Given the description of an element on the screen output the (x, y) to click on. 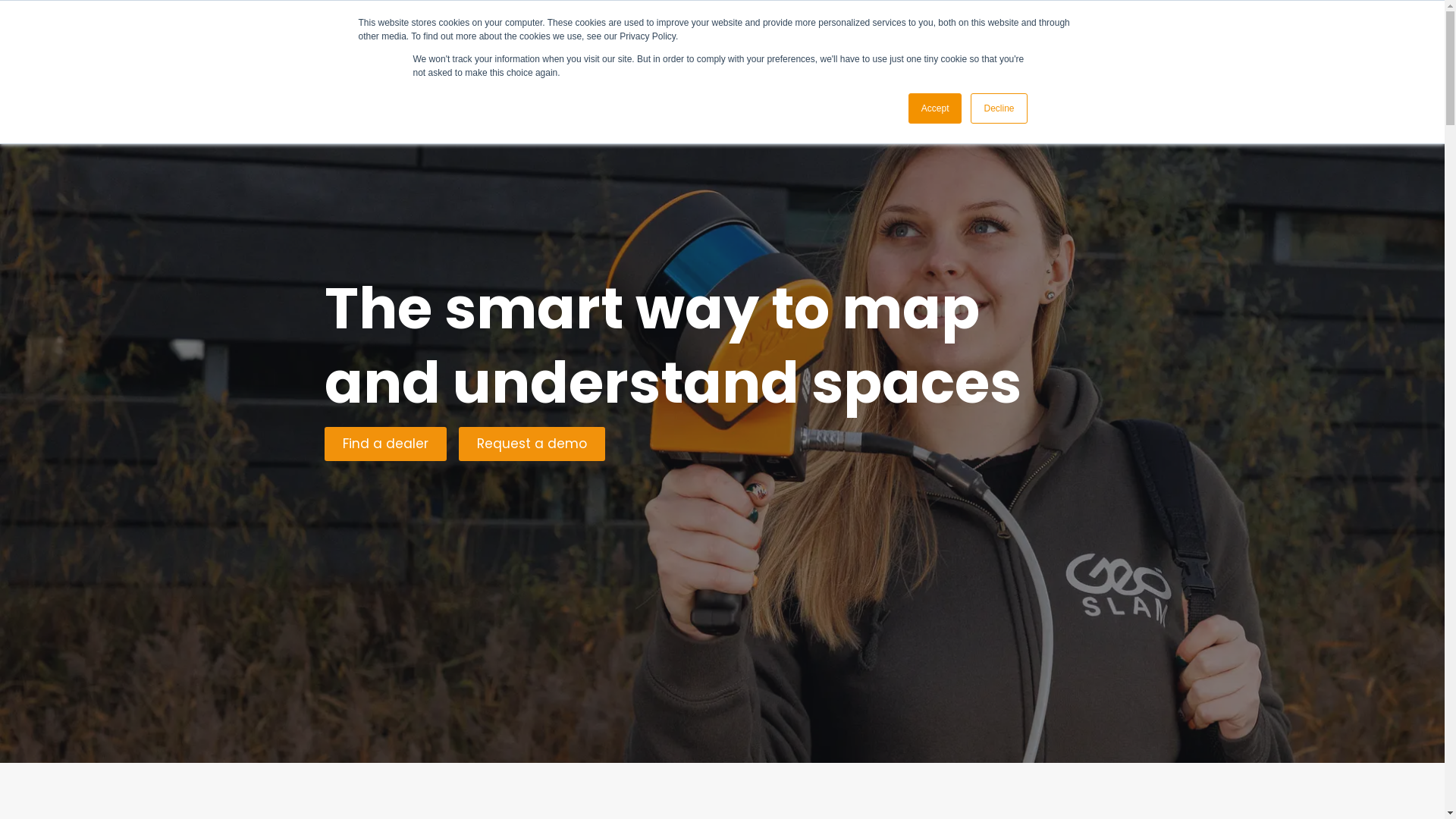
About Element type: text (931, 44)
Decline Element type: text (998, 108)
Buy Element type: text (718, 44)
Resources Element type: text (857, 44)
Product Element type: text (577, 44)
GeoSLAM Element type: hover (323, 40)
Find a dealer Element type: text (385, 443)
Accept Element type: text (935, 108)
Industries Element type: text (653, 44)
Request A Demo Element type: text (1064, 44)
Request a demo Element type: text (531, 443)
Support Element type: text (779, 44)
Skip to content Element type: text (15, 7)
